Given the description of an element on the screen output the (x, y) to click on. 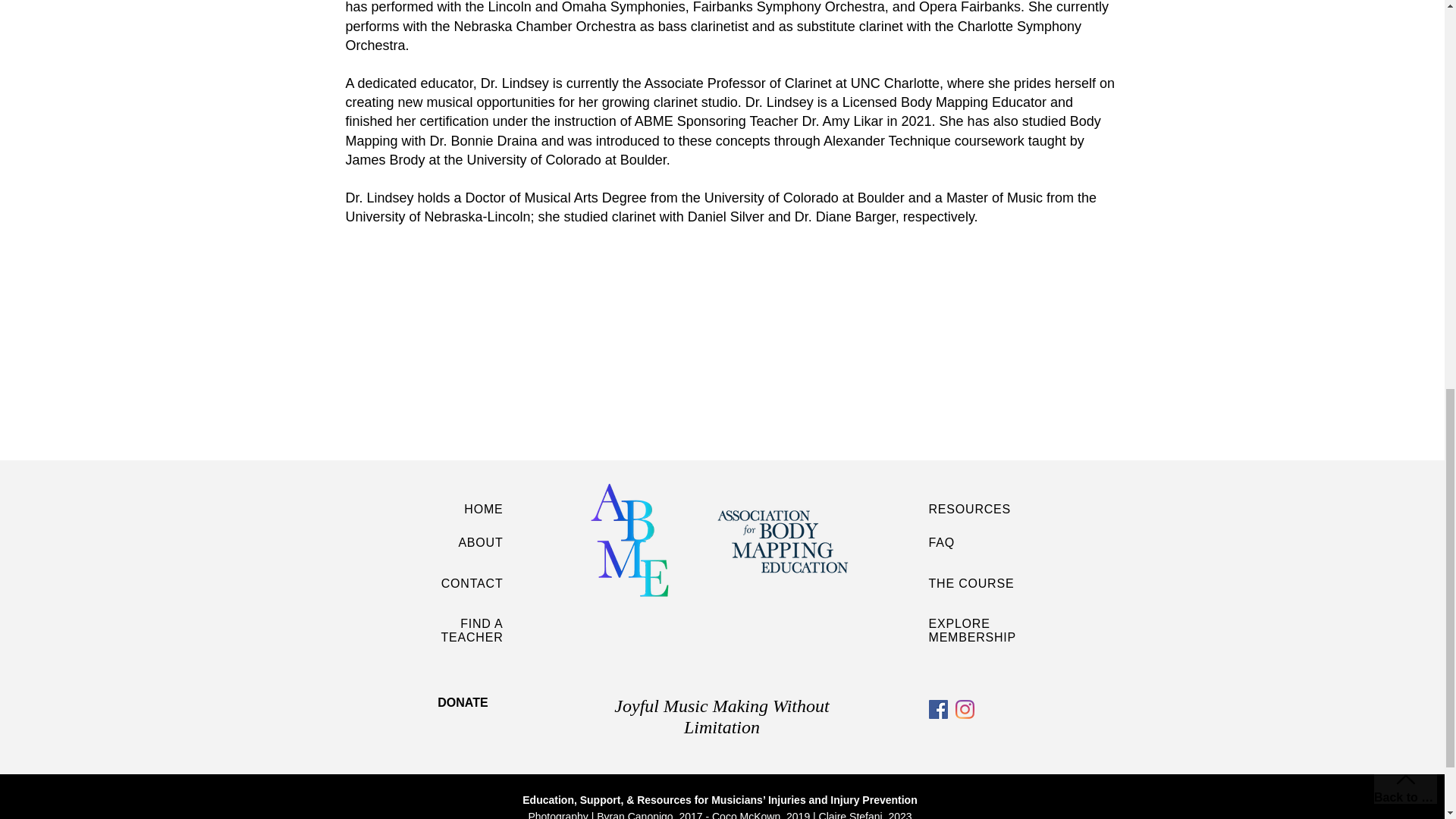
CONTACT (472, 583)
ABOUT (480, 542)
HOME (483, 508)
